Given the description of an element on the screen output the (x, y) to click on. 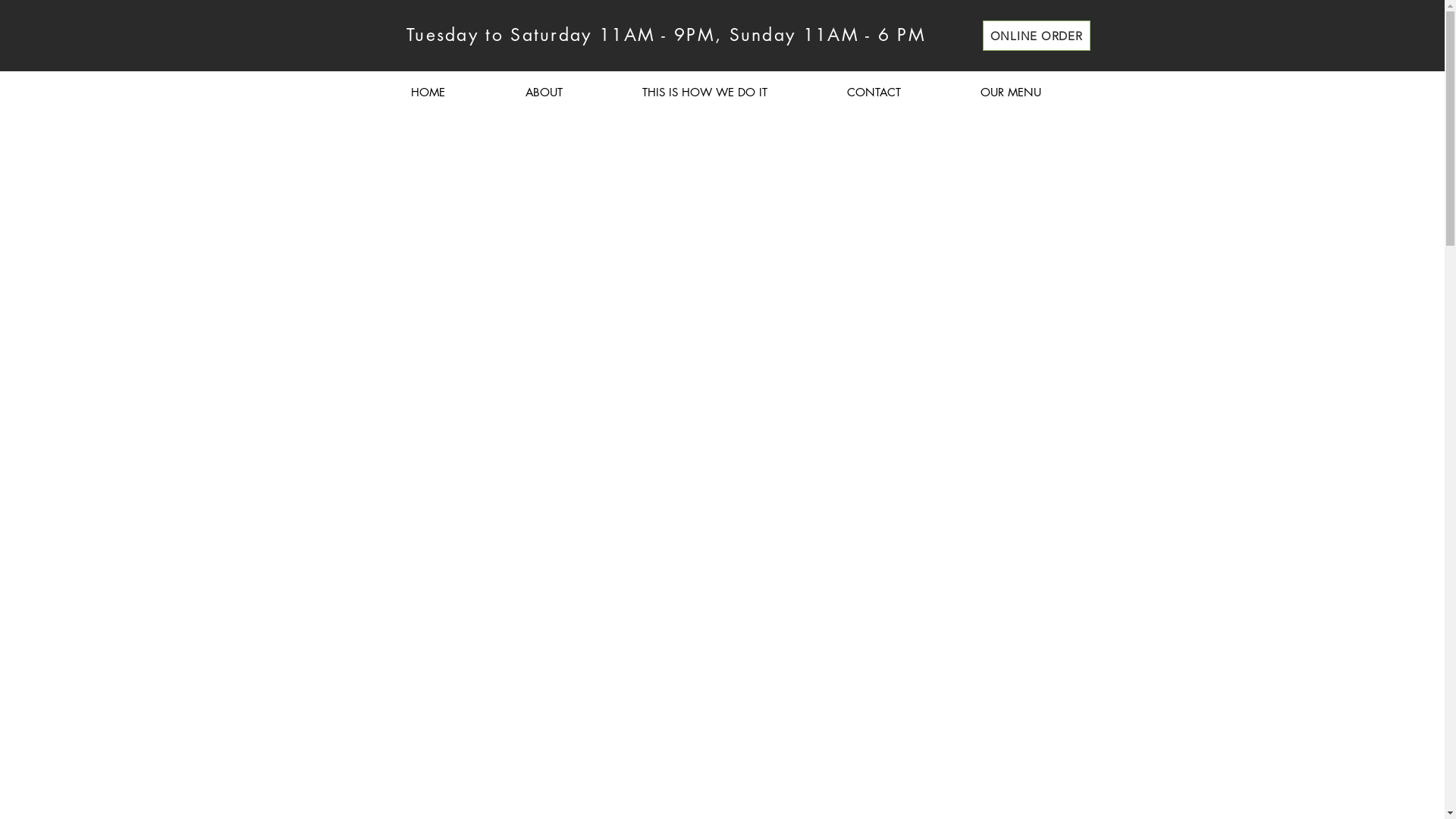
ONLINE ORDER Element type: text (1036, 35)
CONTACT Element type: text (873, 92)
THIS IS HOW WE DO IT Element type: text (704, 92)
ABOUT Element type: text (543, 92)
HOME Element type: text (427, 92)
OUR MENU Element type: text (1010, 92)
